Given the description of an element on the screen output the (x, y) to click on. 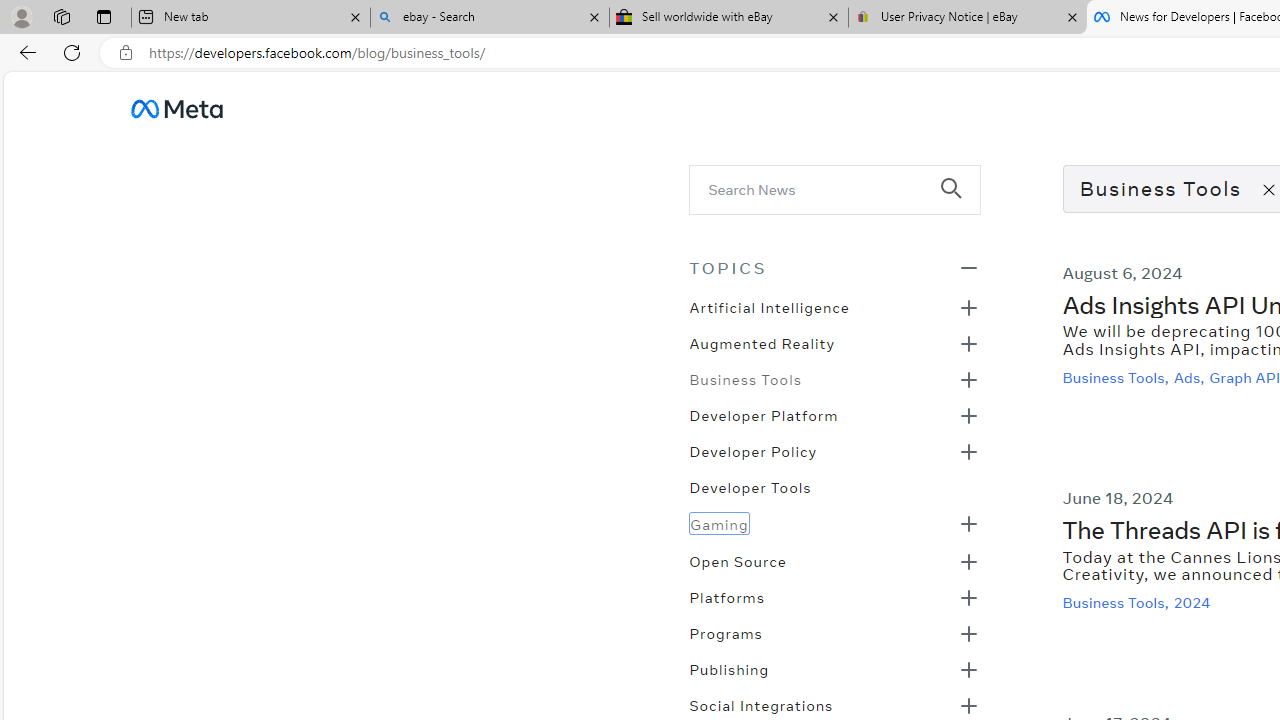
Business Tools (745, 377)
Programs (725, 631)
Class: _98ex (834, 493)
Business Tools, (1117, 602)
Augmented Reality (761, 341)
Class: _98ex _98ez (834, 675)
AutomationID: u_0_4z_2S (176, 107)
Class: _9890 _98ey (834, 267)
Gaming (719, 522)
Platforms (726, 595)
